Given the description of an element on the screen output the (x, y) to click on. 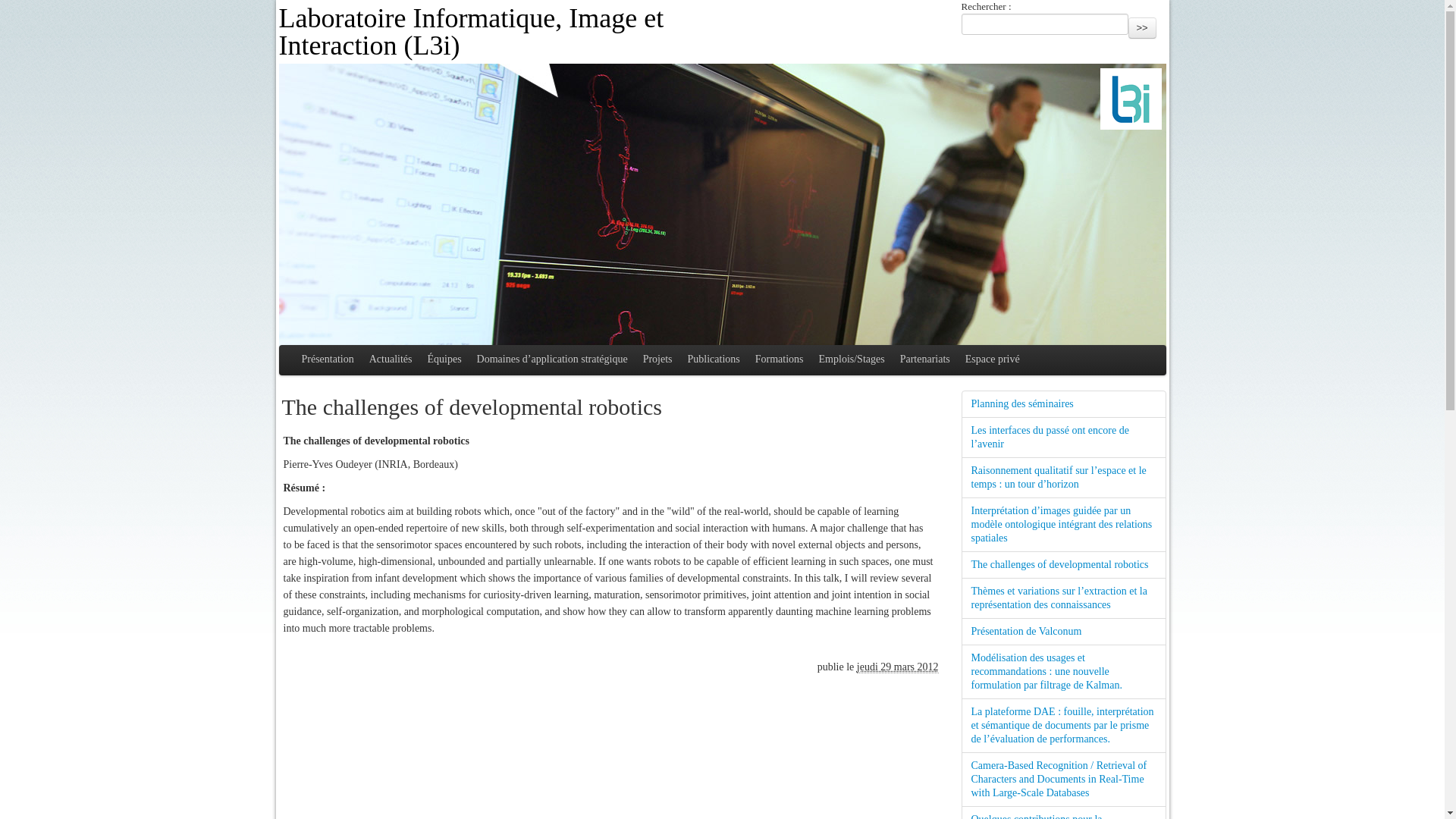
Formations (779, 359)
Partenariats (925, 359)
Publications (713, 359)
Projets (656, 359)
Publications (713, 359)
Rechercher (1142, 26)
Projets    (656, 359)
The challenges of developmental robotics (1063, 564)
The challenges of developmental robotics (1063, 564)
Partenariats (925, 359)
Formations (779, 359)
2012-03-29T13:07:23Z (898, 666)
